Given the description of an element on the screen output the (x, y) to click on. 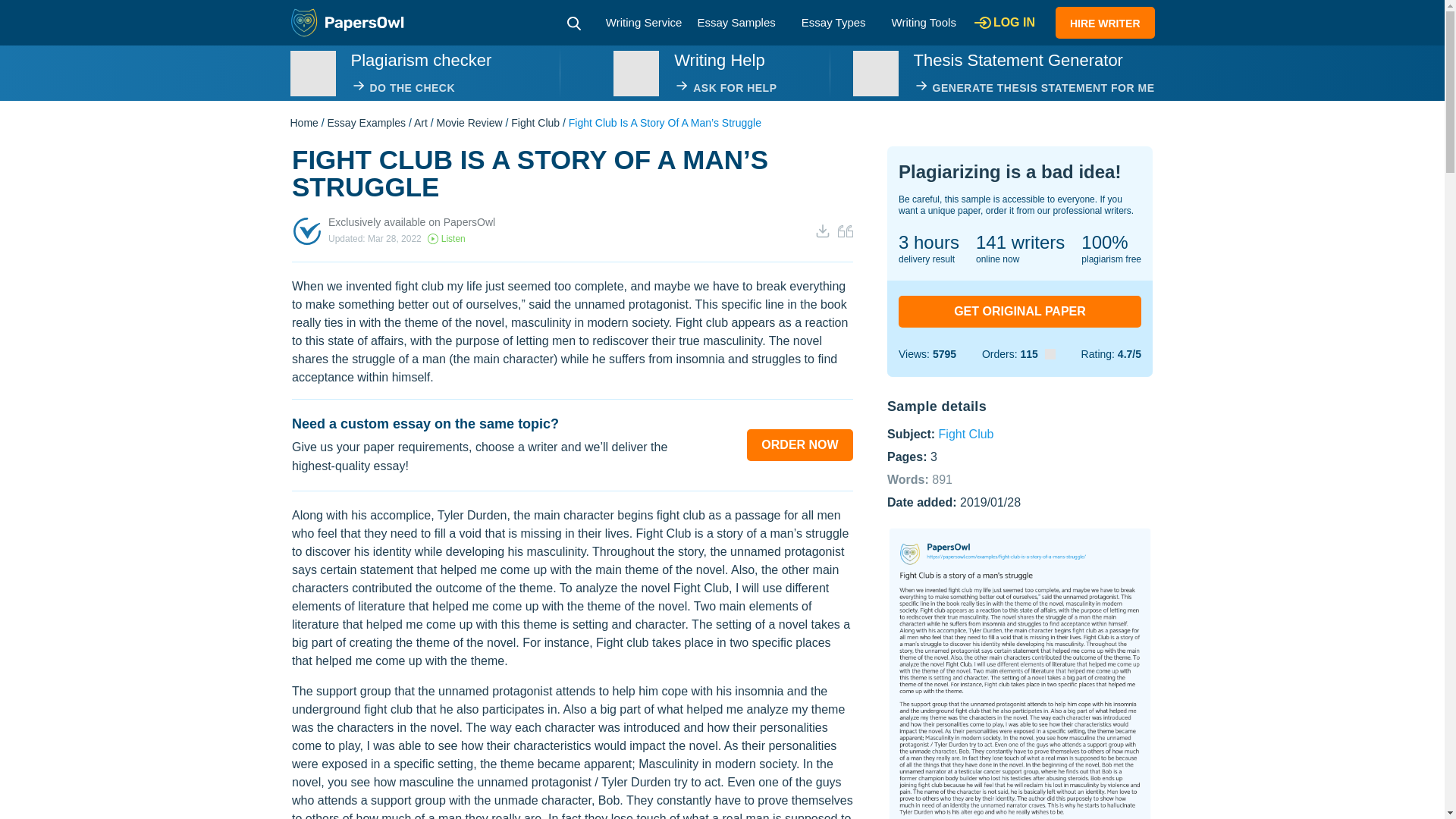
image (635, 72)
image (311, 72)
image (875, 72)
Writing Service (643, 21)
